Given the description of an element on the screen output the (x, y) to click on. 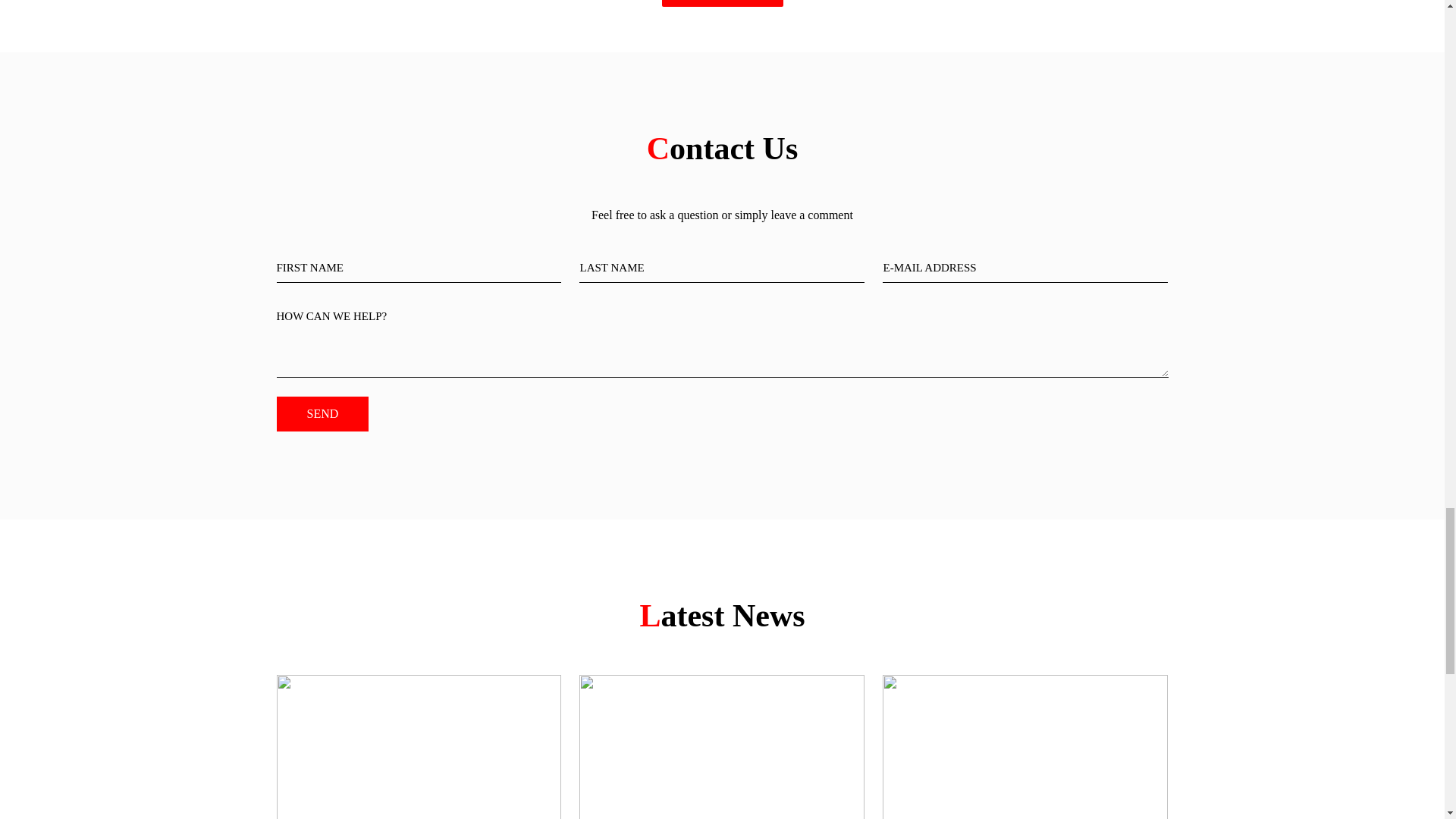
Send (322, 413)
Send (322, 413)
Read more (722, 3)
